Given the description of an element on the screen output the (x, y) to click on. 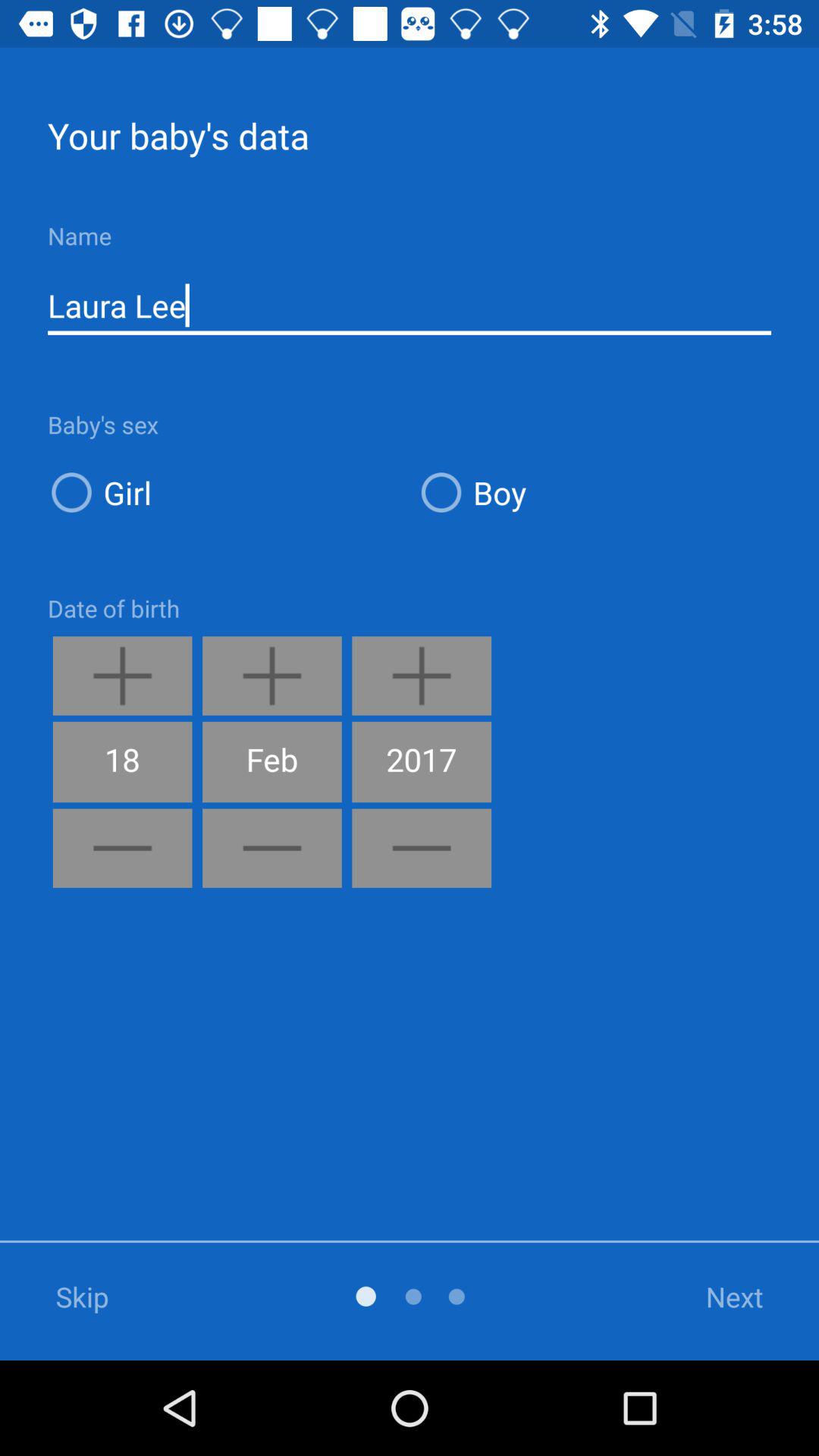
open the skip (103, 1296)
